Given the description of an element on the screen output the (x, y) to click on. 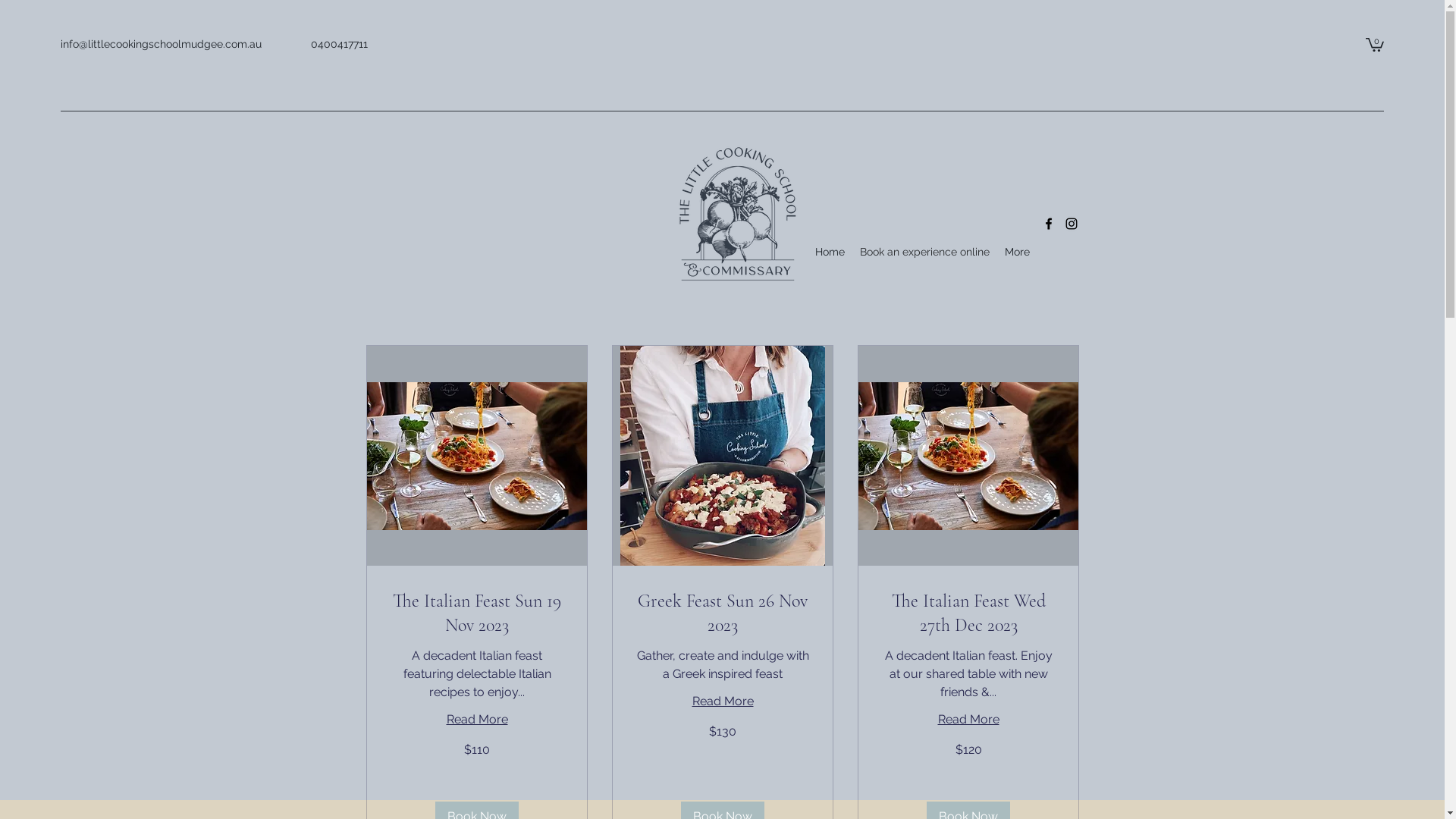
The Italian Feast Sun 19 Nov 2023 Element type: text (475, 613)
Book an experience online Element type: text (924, 251)
info@littlecookingschoolmudgee.com.au Element type: text (160, 43)
Read More Element type: text (476, 719)
Home Element type: text (828, 251)
The Italian Feast Wed 27th Dec 2023 Element type: text (967, 613)
0 Element type: text (1374, 43)
Greek Feast Sun 26 Nov 2023 Element type: text (721, 613)
Read More Element type: text (967, 719)
Read More Element type: text (722, 701)
